Given the description of an element on the screen output the (x, y) to click on. 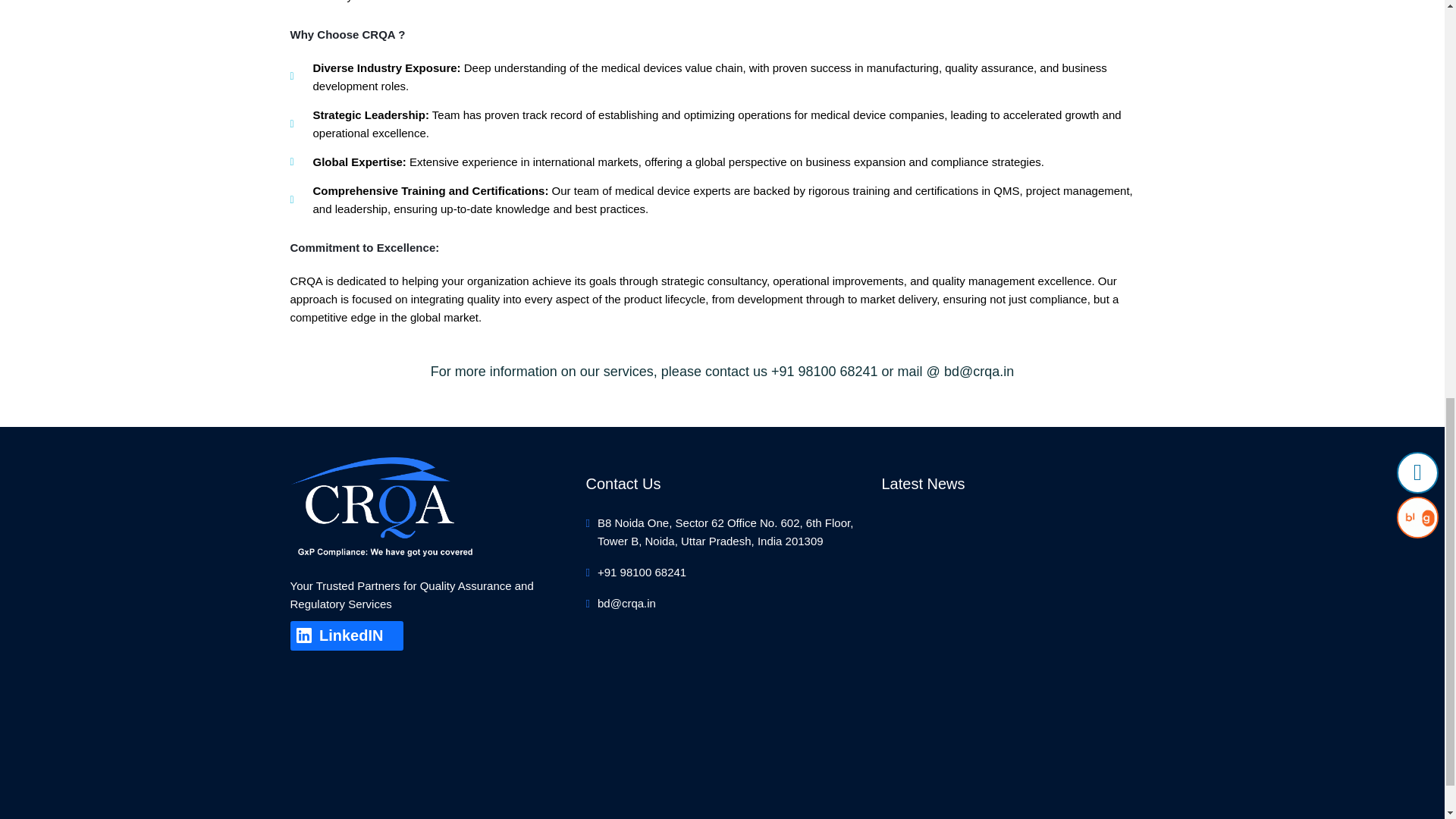
LinkedIn (346, 635)
